Given the description of an element on the screen output the (x, y) to click on. 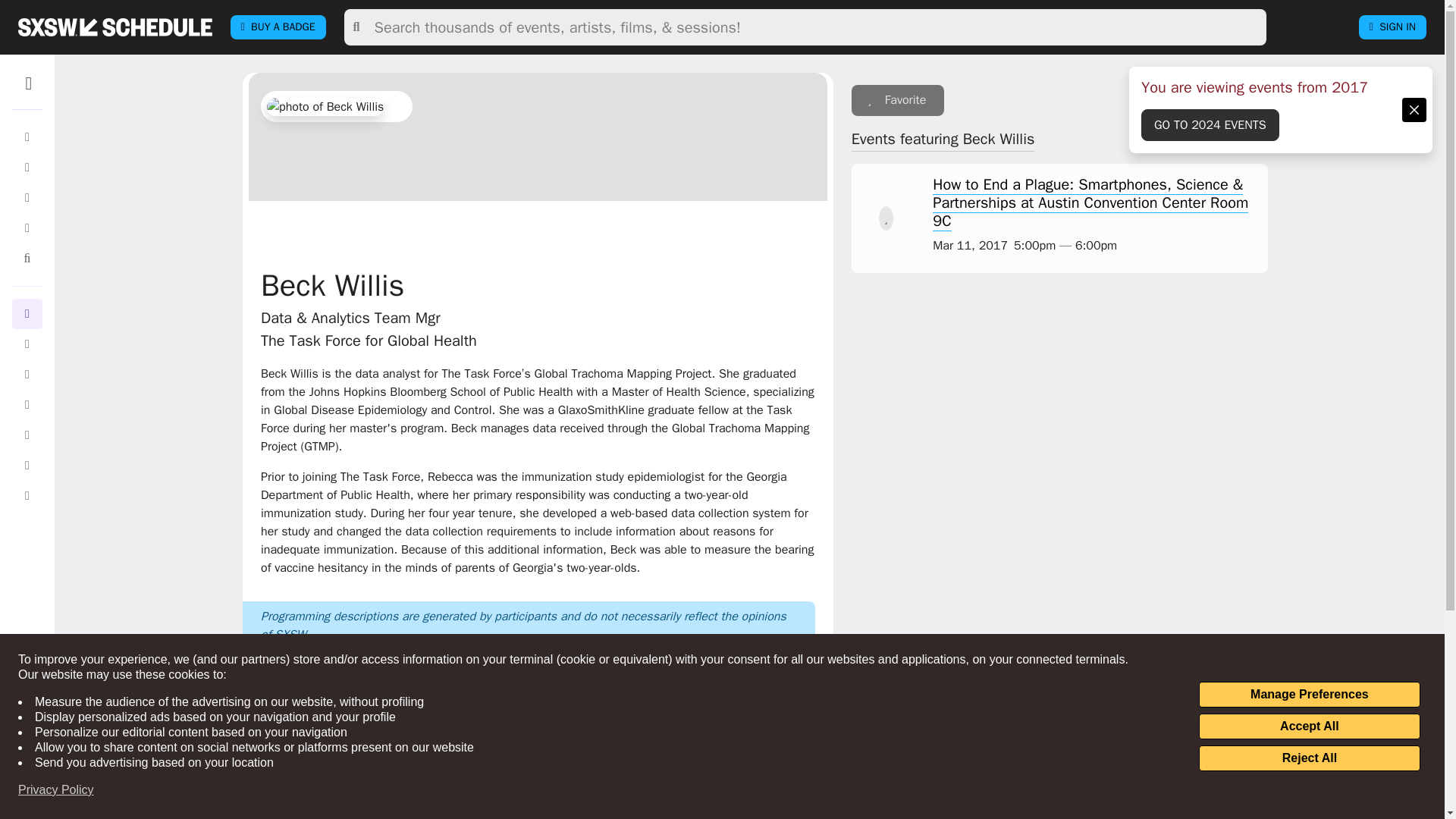
GO TO 2024 EVENTS (1210, 124)
SIGN IN (1392, 27)
BUY A BADGE (278, 27)
Reject All (1309, 758)
Accept All (1309, 726)
Manage Preferences (1309, 694)
Privacy Policy (55, 789)
Sign In to add to your favorites. (897, 100)
sxsw SCHEDULE (114, 27)
